Given the description of an element on the screen output the (x, y) to click on. 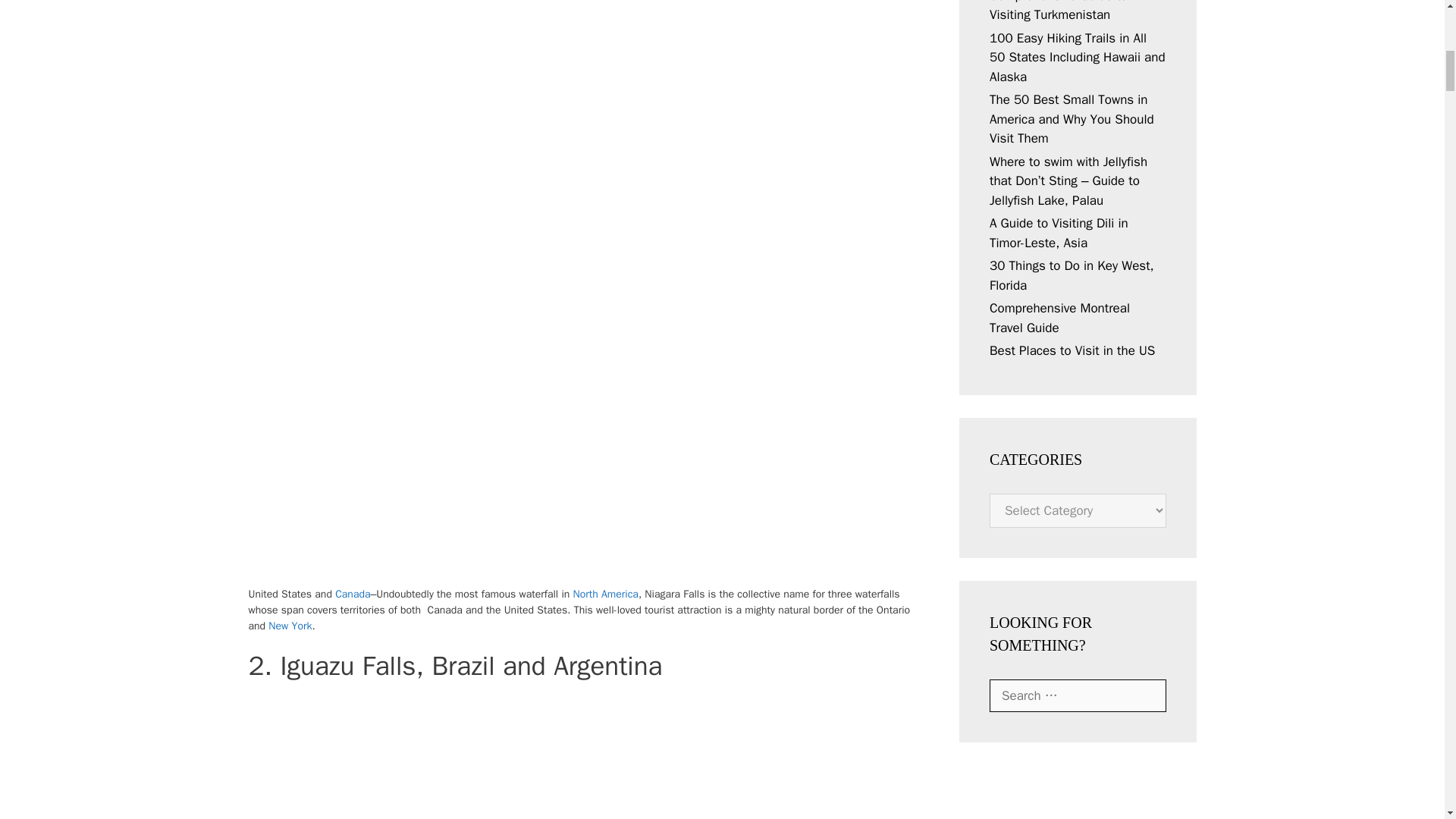
Search for: (1078, 695)
Scroll back to top (1406, 720)
North America (606, 594)
New York (289, 625)
Canada (351, 594)
